Given the description of an element on the screen output the (x, y) to click on. 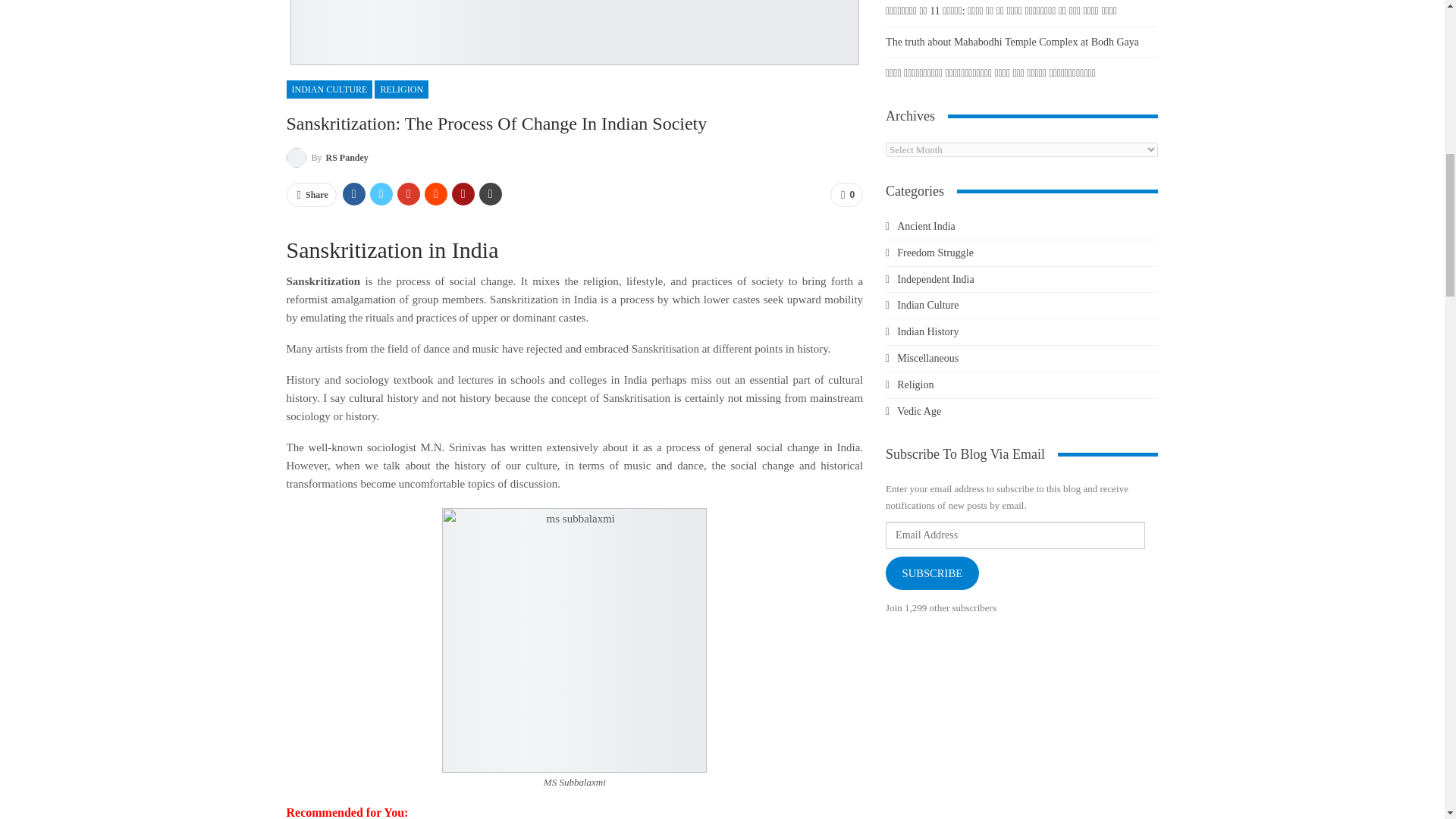
0 (846, 194)
By RS Pandey (327, 157)
RELIGION (401, 89)
INDIAN CULTURE (329, 89)
Browse Author Articles (327, 157)
